Given the description of an element on the screen output the (x, y) to click on. 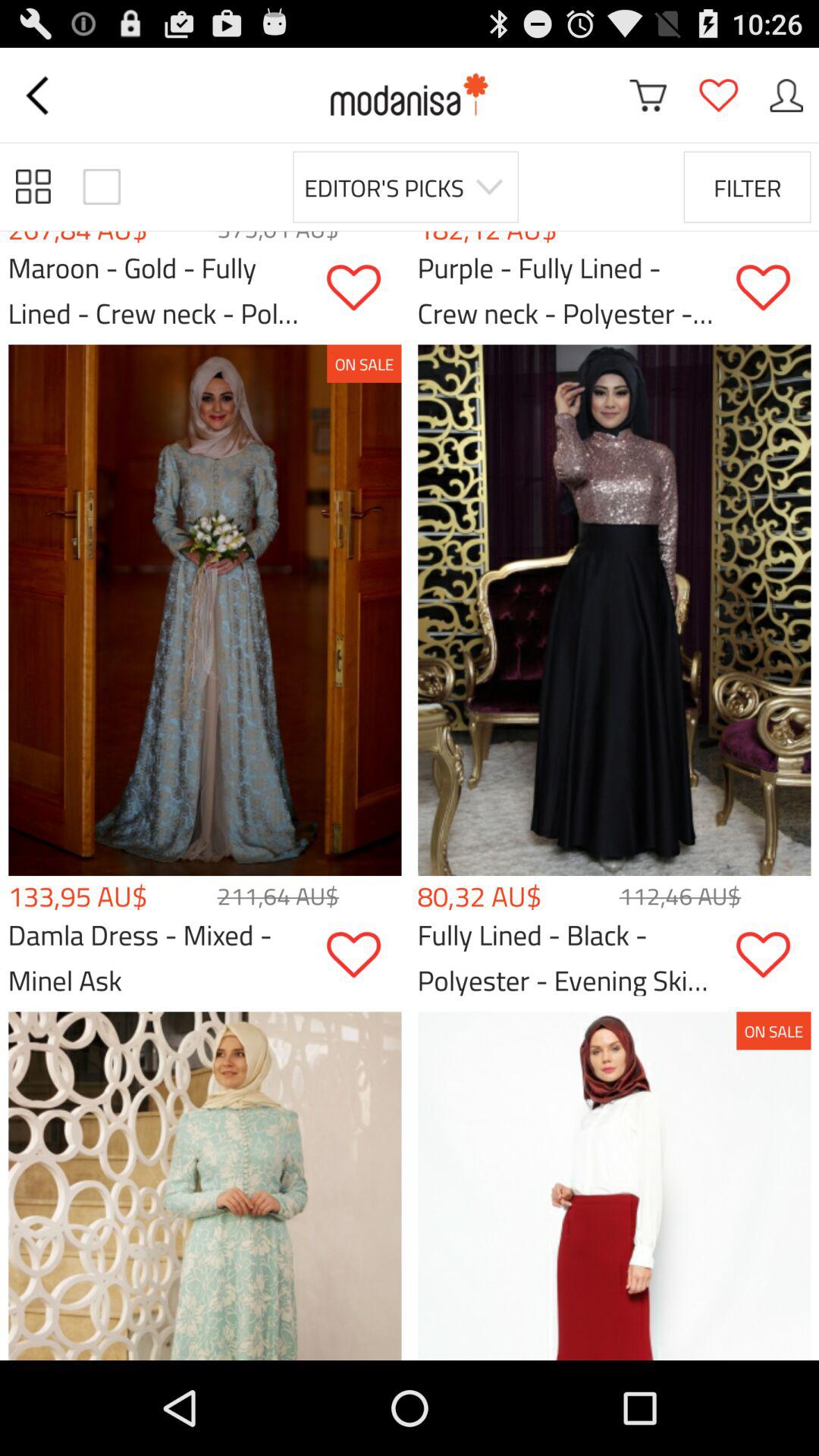
add the product in the favorite list (773, 287)
